Given the description of an element on the screen output the (x, y) to click on. 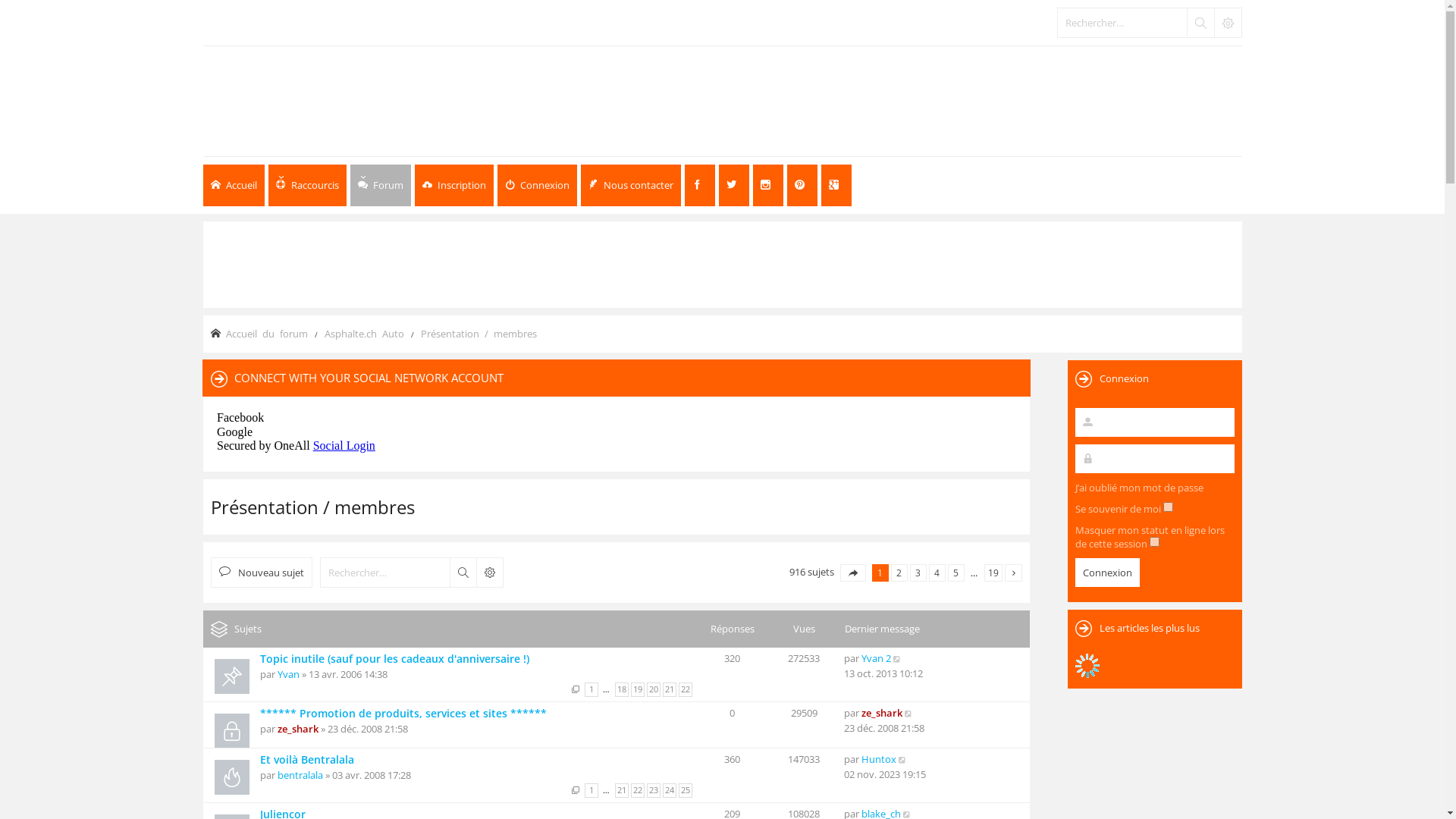
25 Element type: text (684, 790)
Nous contacter Element type: text (630, 185)
21 Element type: text (669, 689)
Aller au dernier message Element type: hover (897, 658)
Huntox Element type: text (878, 758)
19 Element type: text (637, 689)
ze_shark Element type: text (881, 712)
1 Element type: text (590, 790)
Topic inutile (sauf pour les cadeaux d'anniversaire !) Element type: text (393, 658)
****** Promotion de produits, services et sites ****** Element type: text (402, 713)
2 Element type: text (898, 572)
1 Element type: text (590, 689)
Advertisement Element type: hover (721, 263)
21 Element type: text (620, 790)
ze_shark Element type: text (297, 728)
Rechercher Element type: text (461, 572)
Mot de passe Element type: hover (1154, 458)
23 Element type: text (652, 790)
5 Element type: text (955, 572)
24 Element type: text (669, 790)
3 Element type: text (918, 572)
Raccourcis Element type: text (307, 185)
22 Element type: text (684, 689)
4 Element type: text (936, 572)
Connexion Element type: text (537, 185)
22 Element type: text (637, 790)
20 Element type: text (652, 689)
Forum Element type: text (380, 185)
Inscription Element type: text (453, 185)
Nouveau sujet Element type: text (261, 572)
Connexion Element type: text (1107, 572)
18 Element type: text (620, 689)
Rechercher Element type: hover (1199, 22)
Asphalte.ch Auto Element type: text (364, 334)
Aller au dernier message Element type: hover (901, 758)
19 Element type: text (993, 572)
Accueil du forum Element type: text (266, 334)
Yvan Element type: text (288, 673)
Login with Social Networks Element type: hover (616, 431)
bentralala Element type: text (300, 774)
Accueil Element type: text (233, 185)
Aller au dernier message Element type: hover (907, 712)
Yvan 2 Element type: text (876, 658)
